Given the description of an element on the screen output the (x, y) to click on. 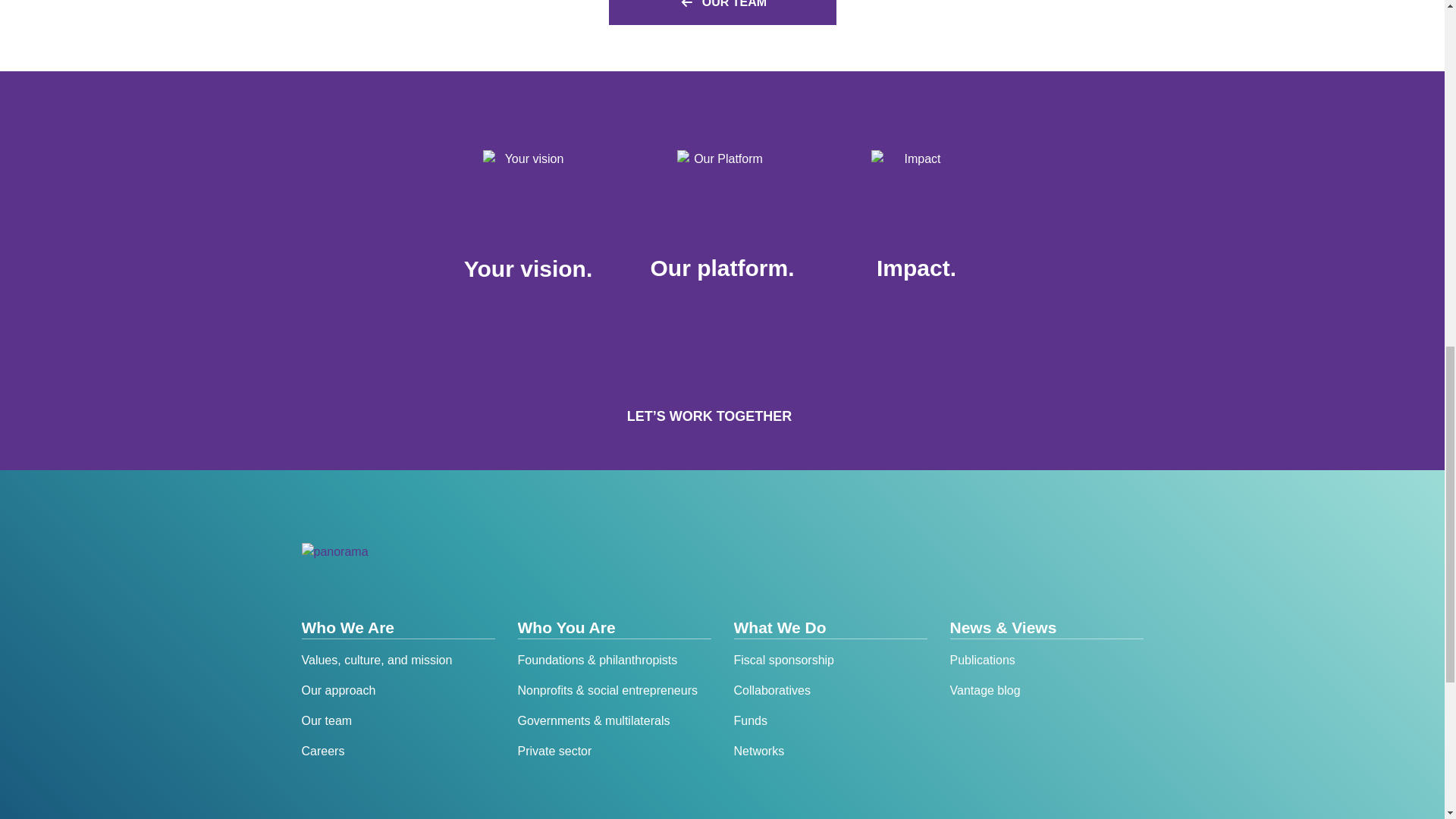
Values, culture, and mission (398, 660)
Collaboratives (830, 690)
Careers (398, 751)
Our approach (398, 690)
Fiscal sponsorship (830, 660)
Our team (398, 720)
OUR TEAM (721, 12)
Who We Are (398, 628)
What We Do (830, 628)
Private sector (613, 751)
Who You Are (613, 628)
